Given the description of an element on the screen output the (x, y) to click on. 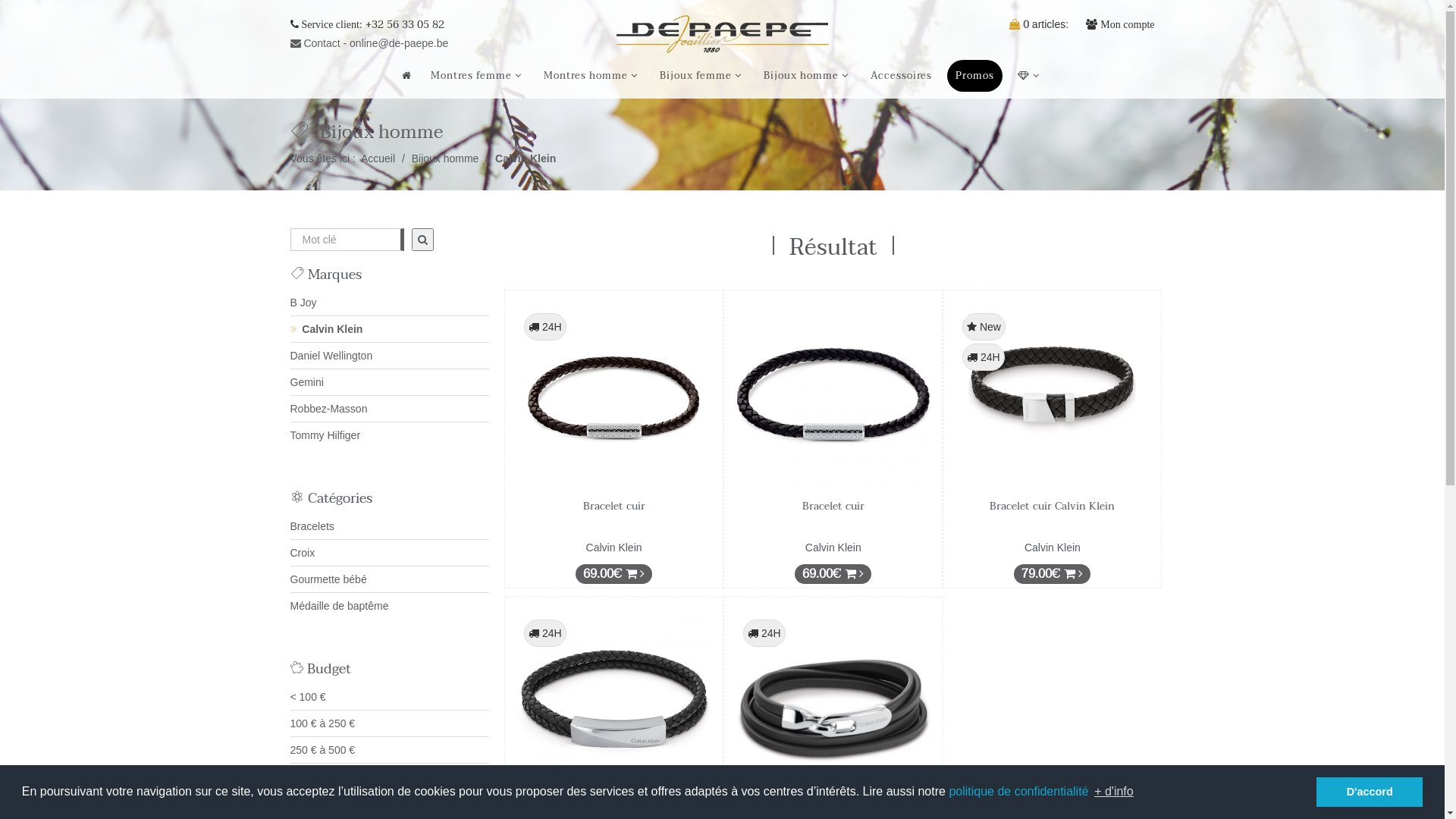
Bijoux homme Element type: text (445, 158)
Service client: +32 56 33 05 82 Element type: text (366, 24)
Bracelet cuir Element type: text (614, 505)
24H Element type: text (832, 700)
Calvin Klein Element type: text (331, 329)
New
24H Element type: text (1051, 394)
Bracelet cuir Calvin Klein Element type: text (1051, 505)
Bijoux femme Element type: text (700, 75)
Bracelets Element type: text (311, 526)
Accueil Element type: text (377, 158)
Promos Element type: text (973, 75)
Montres femme Element type: text (476, 75)
Bracelet cuir Element type: text (833, 505)
Montres homme Element type: text (589, 75)
Croix Element type: text (301, 552)
Tommy Hilfiger Element type: text (324, 435)
Robbez-Masson Element type: text (328, 408)
0 articles: Element type: text (1038, 24)
24H Element type: text (613, 394)
D'accord Element type: text (1369, 791)
24H Element type: text (613, 700)
Contact - online@de-paepe.be Element type: text (368, 43)
+ d'info Element type: text (1113, 791)
Gemini Element type: text (306, 382)
Mon compte Element type: text (1119, 24)
Bijoux homme Element type: text (805, 75)
Daniel Wellington Element type: text (330, 355)
B Joy Element type: text (302, 302)
Accessoires Element type: text (900, 75)
